Given the description of an element on the screen output the (x, y) to click on. 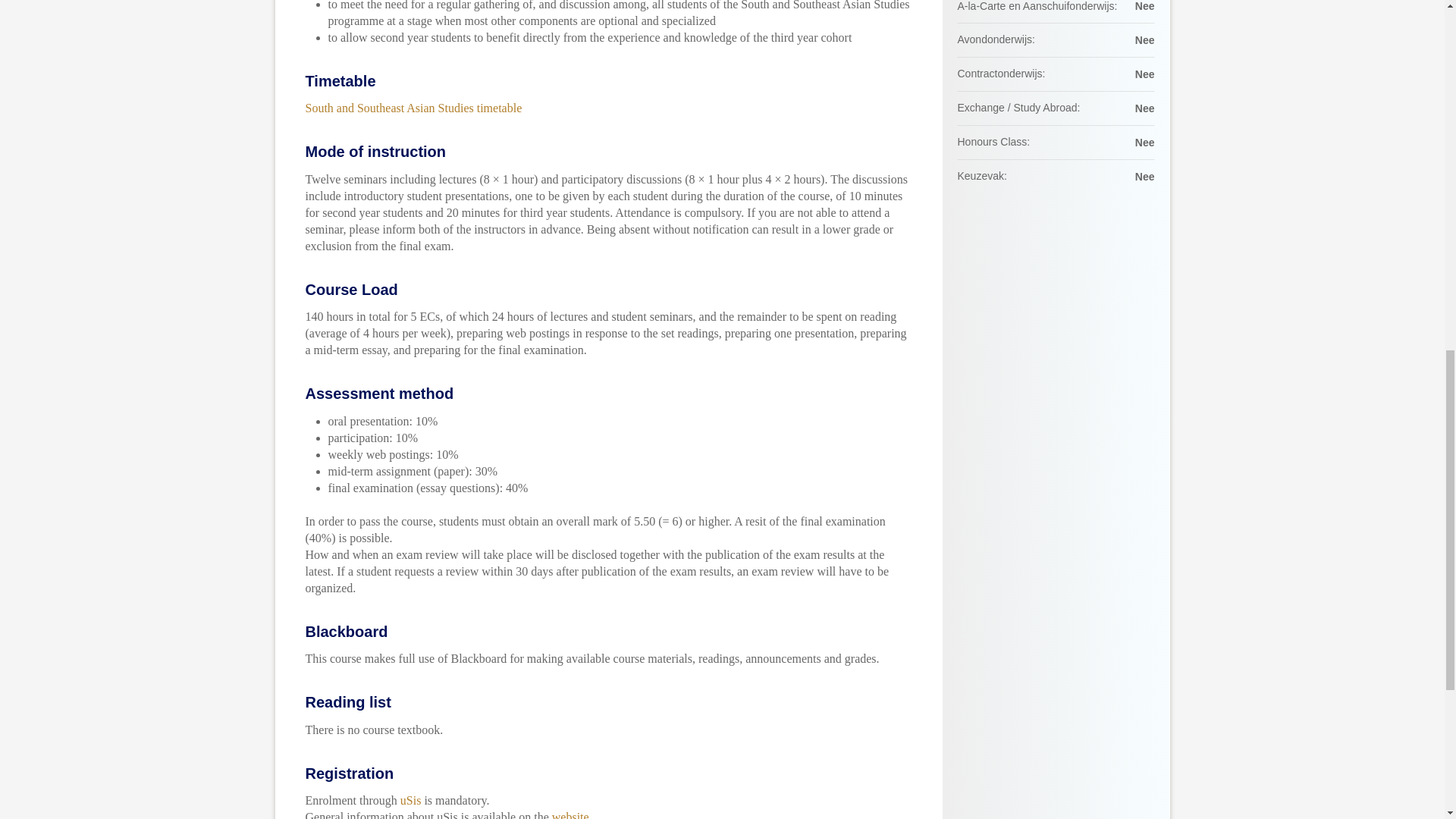
uSis (411, 799)
website (570, 814)
South and Southeast Asian Studies timetable (412, 107)
